Given the description of an element on the screen output the (x, y) to click on. 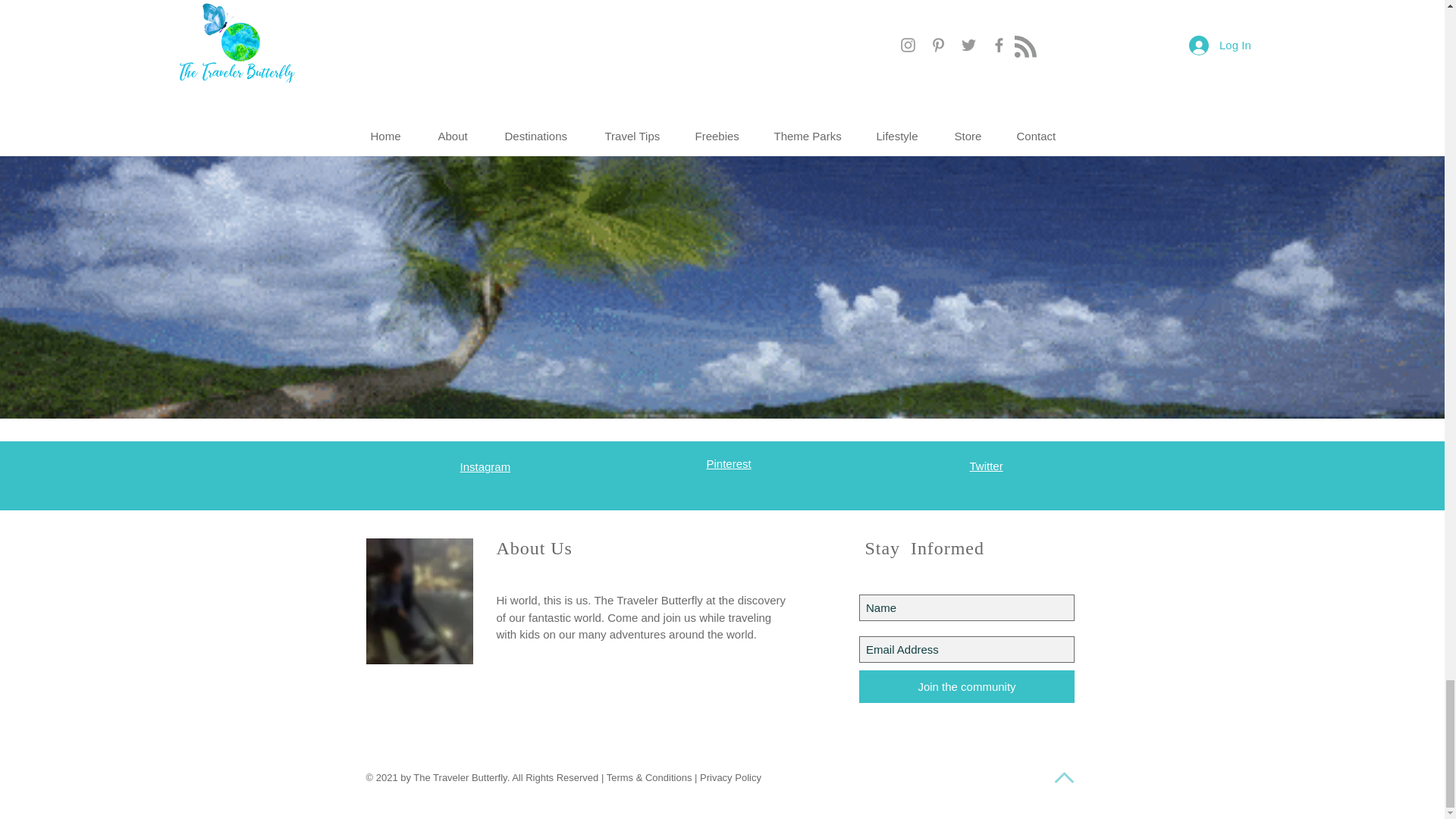
Wix Get Subscribers (966, 639)
